Given the description of an element on the screen output the (x, y) to click on. 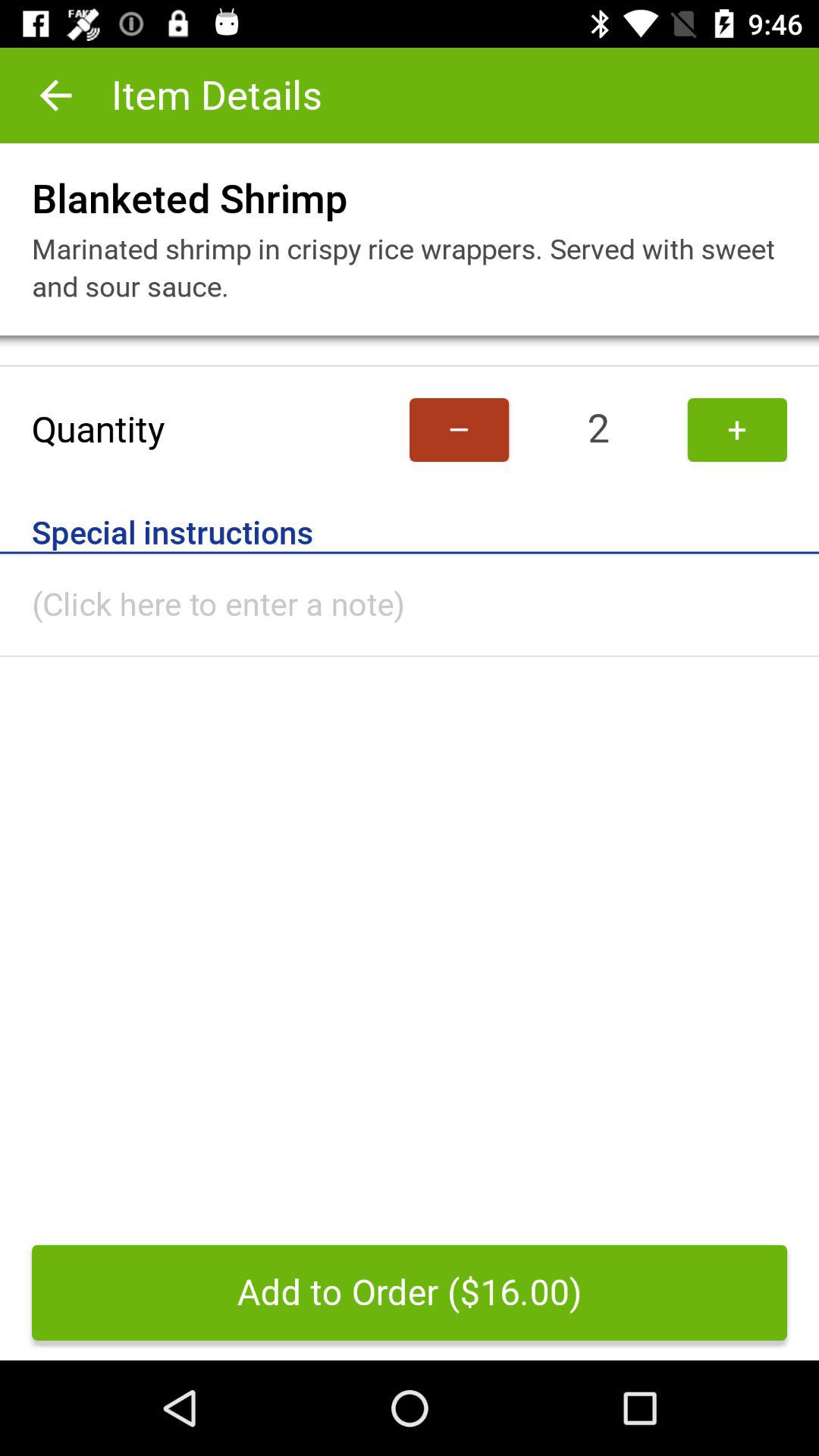
jump until add to order icon (409, 1292)
